Given the description of an element on the screen output the (x, y) to click on. 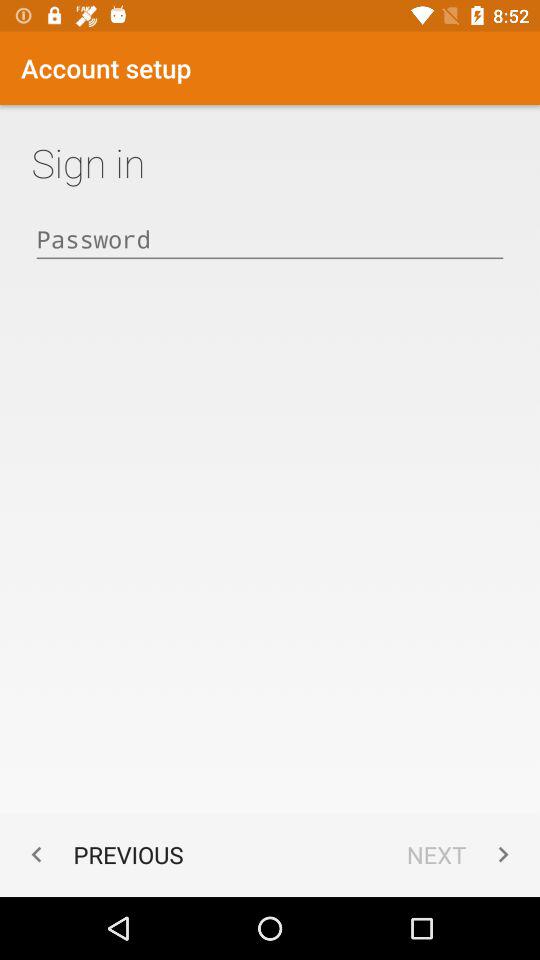
open the item next to previous app (462, 854)
